Given the description of an element on the screen output the (x, y) to click on. 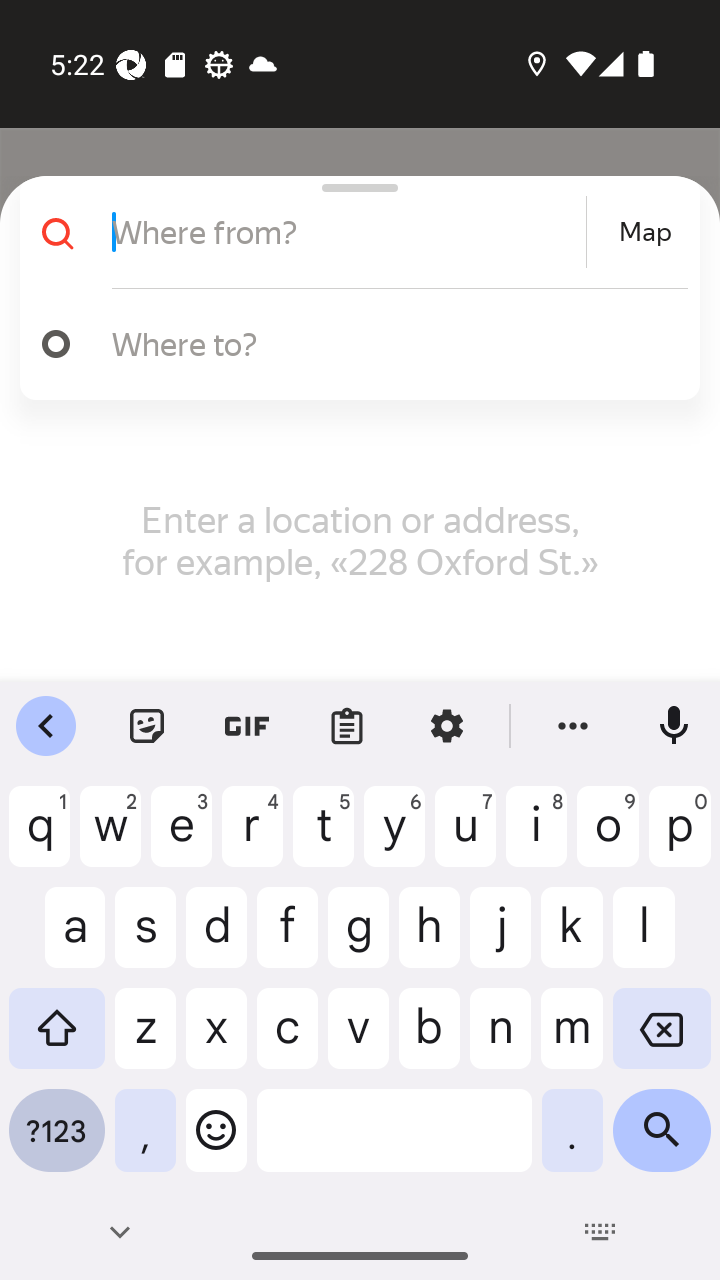
Where from? Map Map (352, 232)
Map (645, 232)
Where from? (346, 232)
Where to? (352, 343)
Where to? (390, 343)
